Given the description of an element on the screen output the (x, y) to click on. 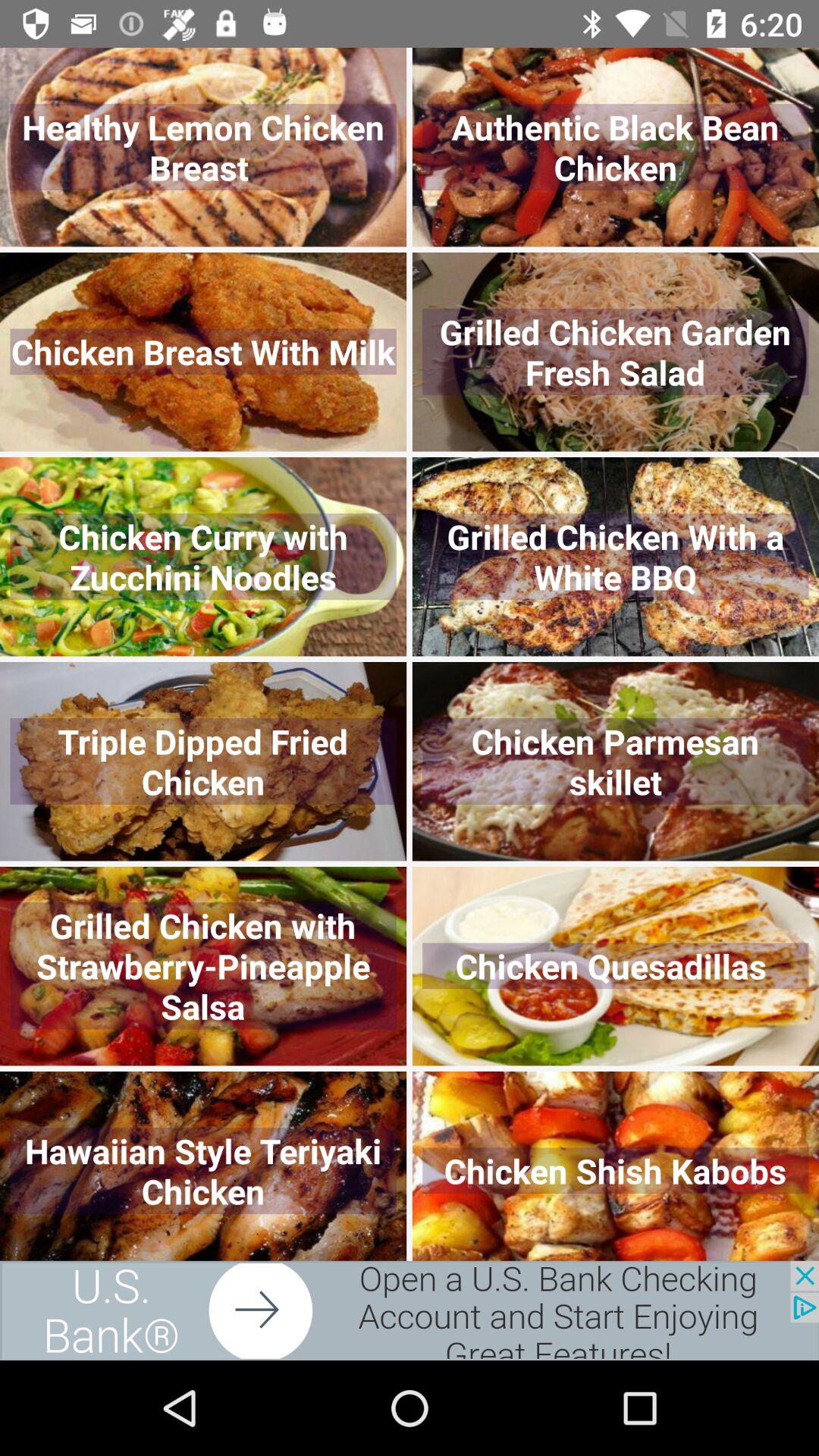
adverisment (409, 1310)
